Given the description of an element on the screen output the (x, y) to click on. 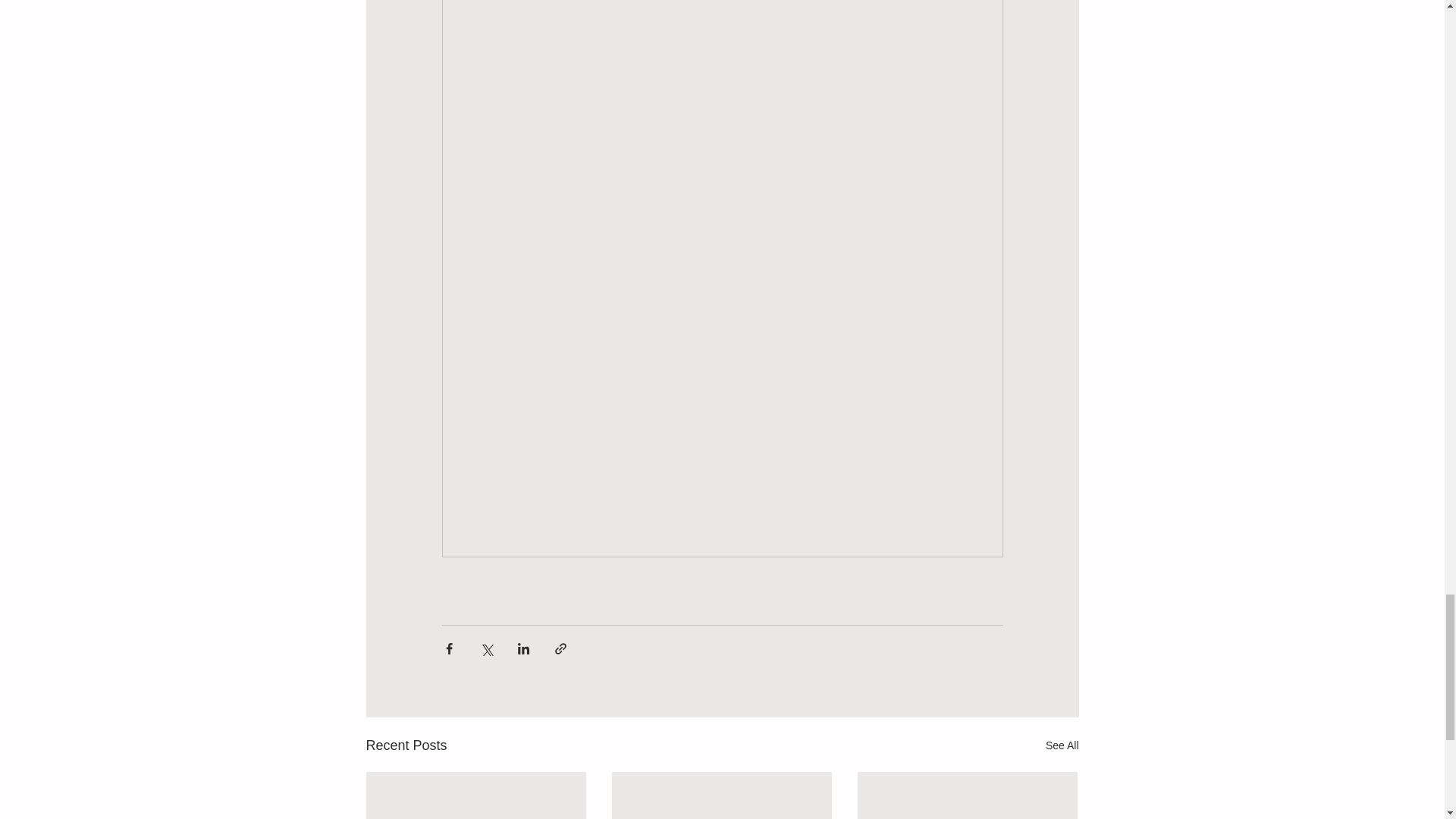
See All (1061, 745)
